Given the description of an element on the screen output the (x, y) to click on. 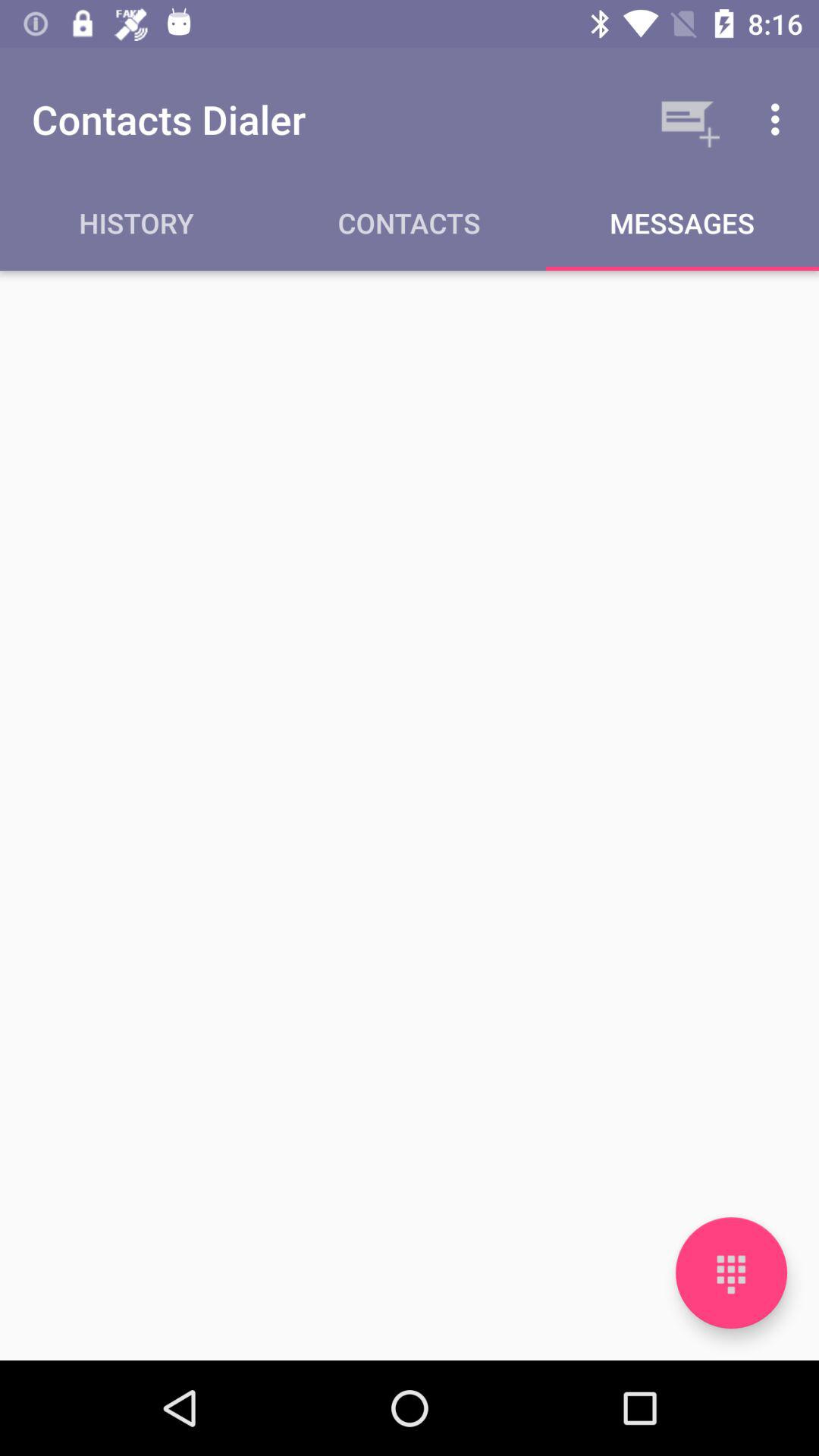
open the keypad (731, 1272)
